Given the description of an element on the screen output the (x, y) to click on. 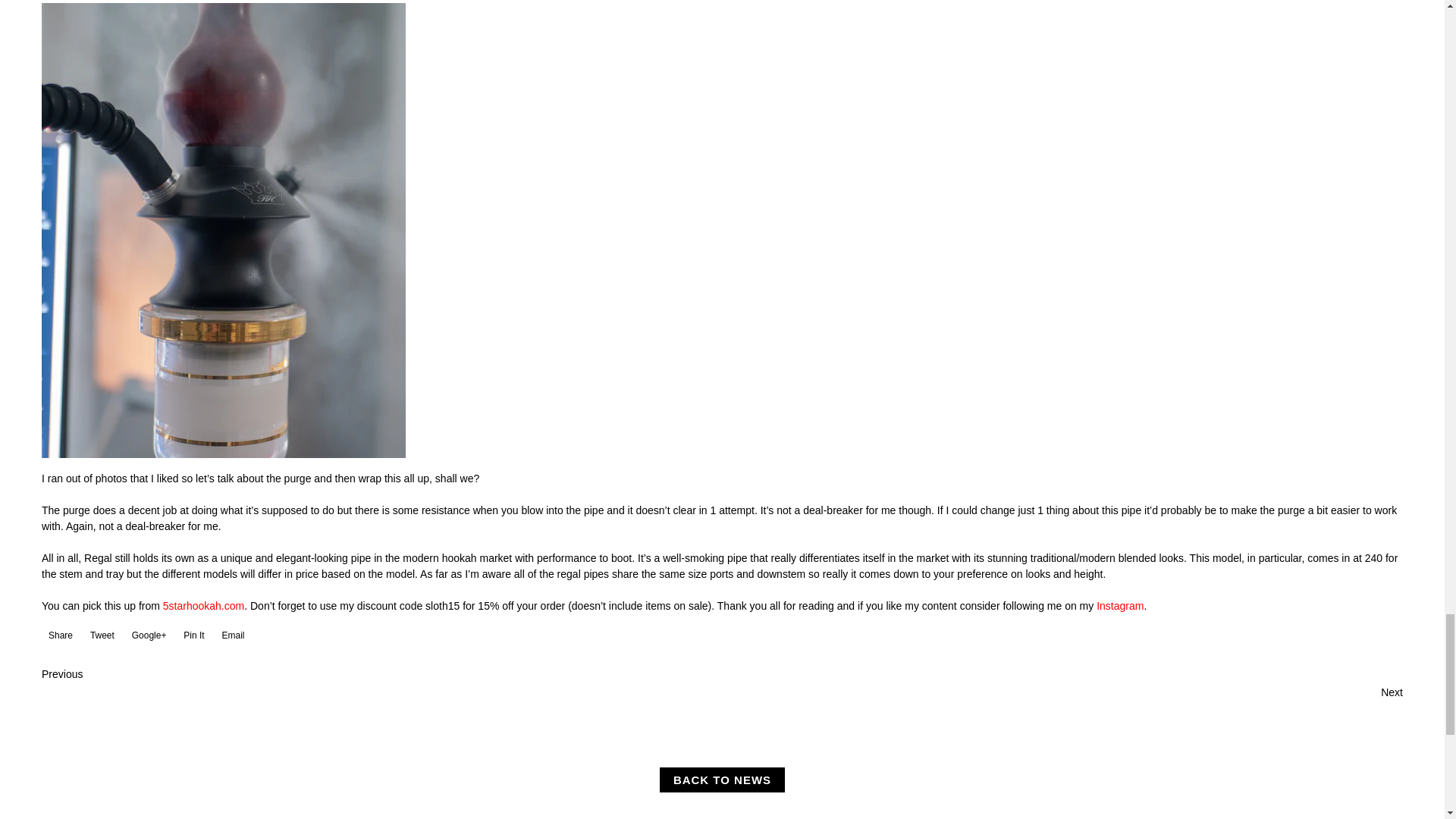
Share by Email (231, 639)
Pin on Pinterest (192, 639)
Share on Facebook (59, 639)
Tweet on Twitter (99, 639)
